Given the description of an element on the screen output the (x, y) to click on. 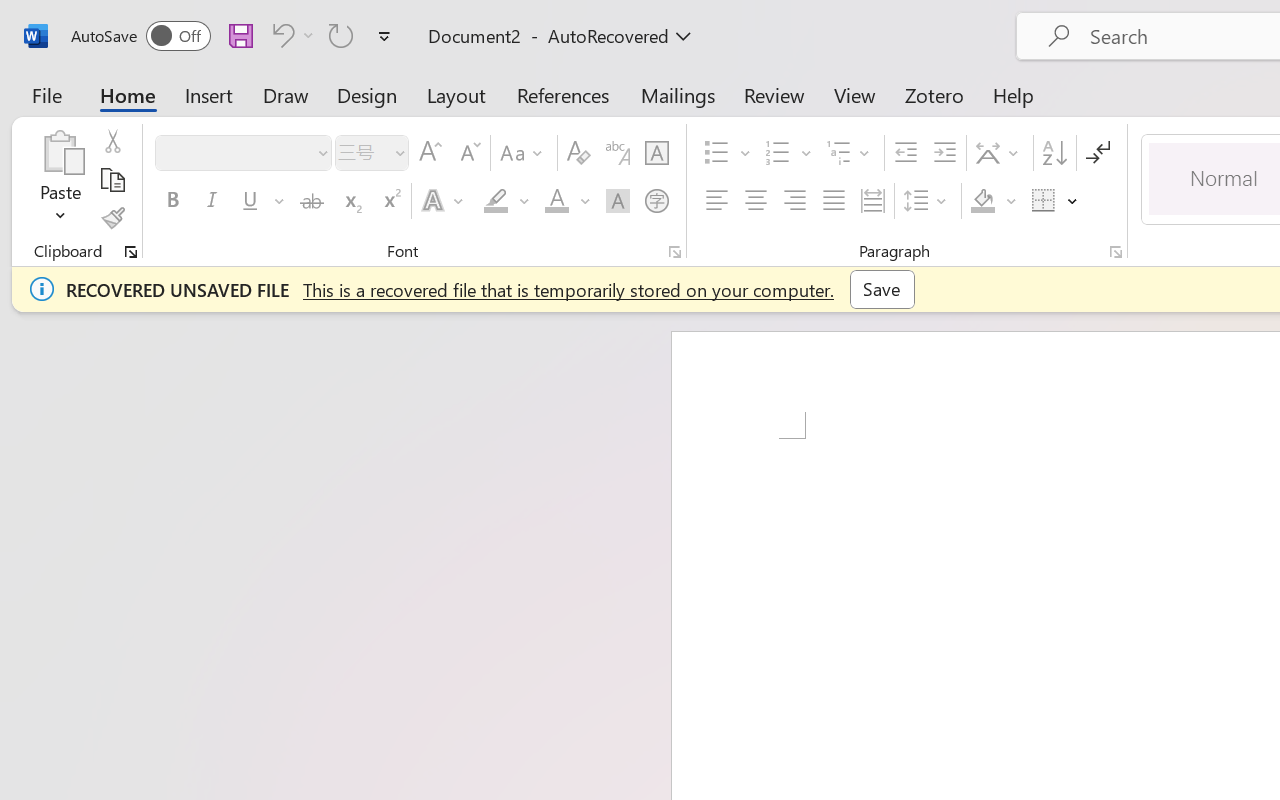
Italic (212, 201)
Copy (112, 179)
Format Painter (112, 218)
Character Shading (618, 201)
Can't Undo (290, 35)
Grow Font (430, 153)
Asian Layout (1000, 153)
Superscript (390, 201)
Character Border (656, 153)
Align Right (794, 201)
Open (399, 152)
